Given the description of an element on the screen output the (x, y) to click on. 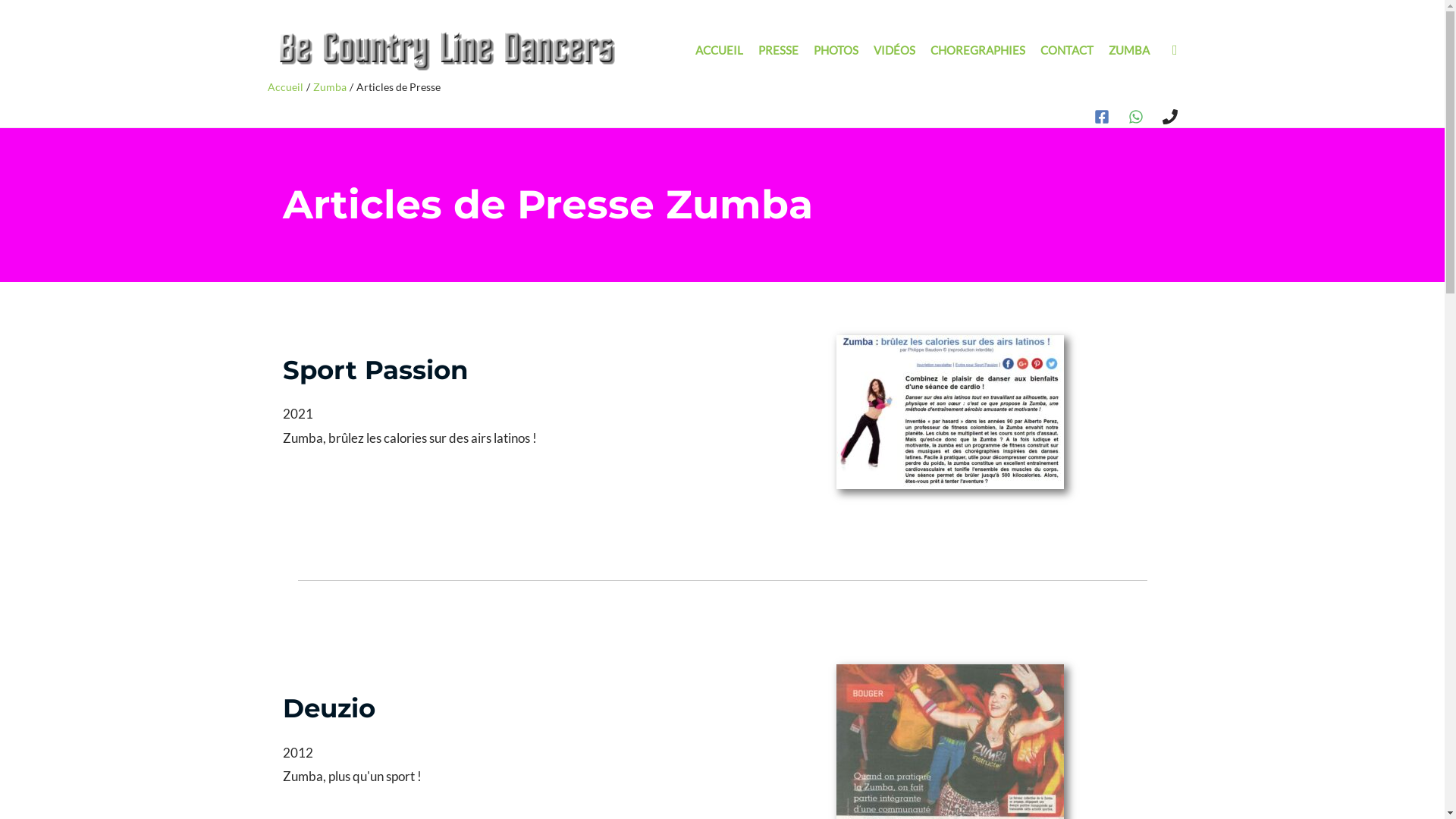
ZUMBA Element type: text (1129, 49)
Zumba Element type: text (329, 86)
CHOREGRAPHIES Element type: text (977, 49)
PHOTOS Element type: text (836, 49)
Rechercher Element type: text (1174, 50)
Sport passion Element type: hover (949, 412)
ACCUEIL Element type: text (718, 49)
CONTACT Element type: text (1066, 49)
Accueil Element type: text (284, 86)
PRESSE Element type: text (778, 49)
